Given the description of an element on the screen output the (x, y) to click on. 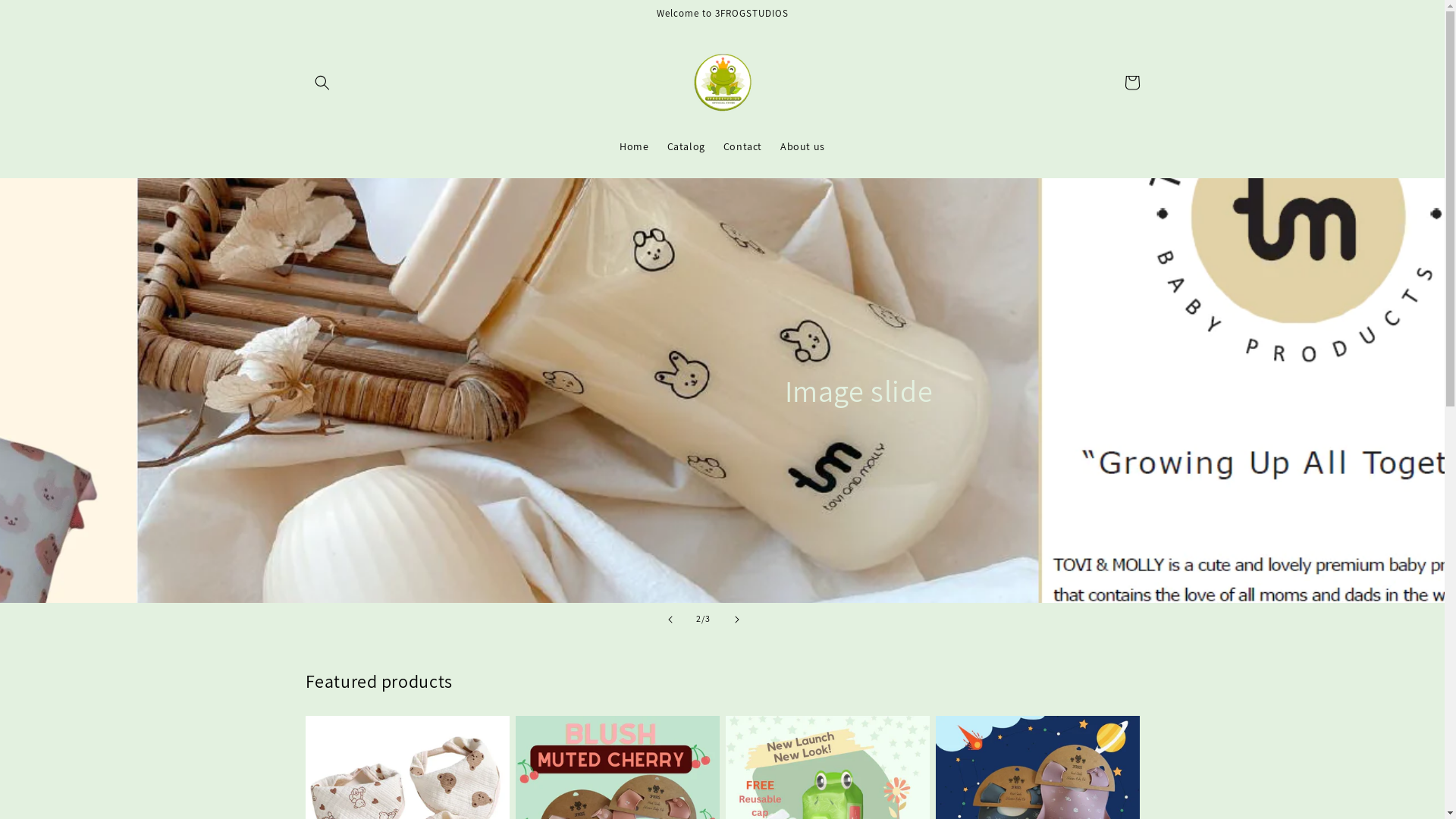
Cart Element type: text (1131, 82)
About us Element type: text (802, 146)
Catalog Element type: text (686, 146)
Contact Element type: text (742, 146)
Home Element type: text (633, 146)
